Given the description of an element on the screen output the (x, y) to click on. 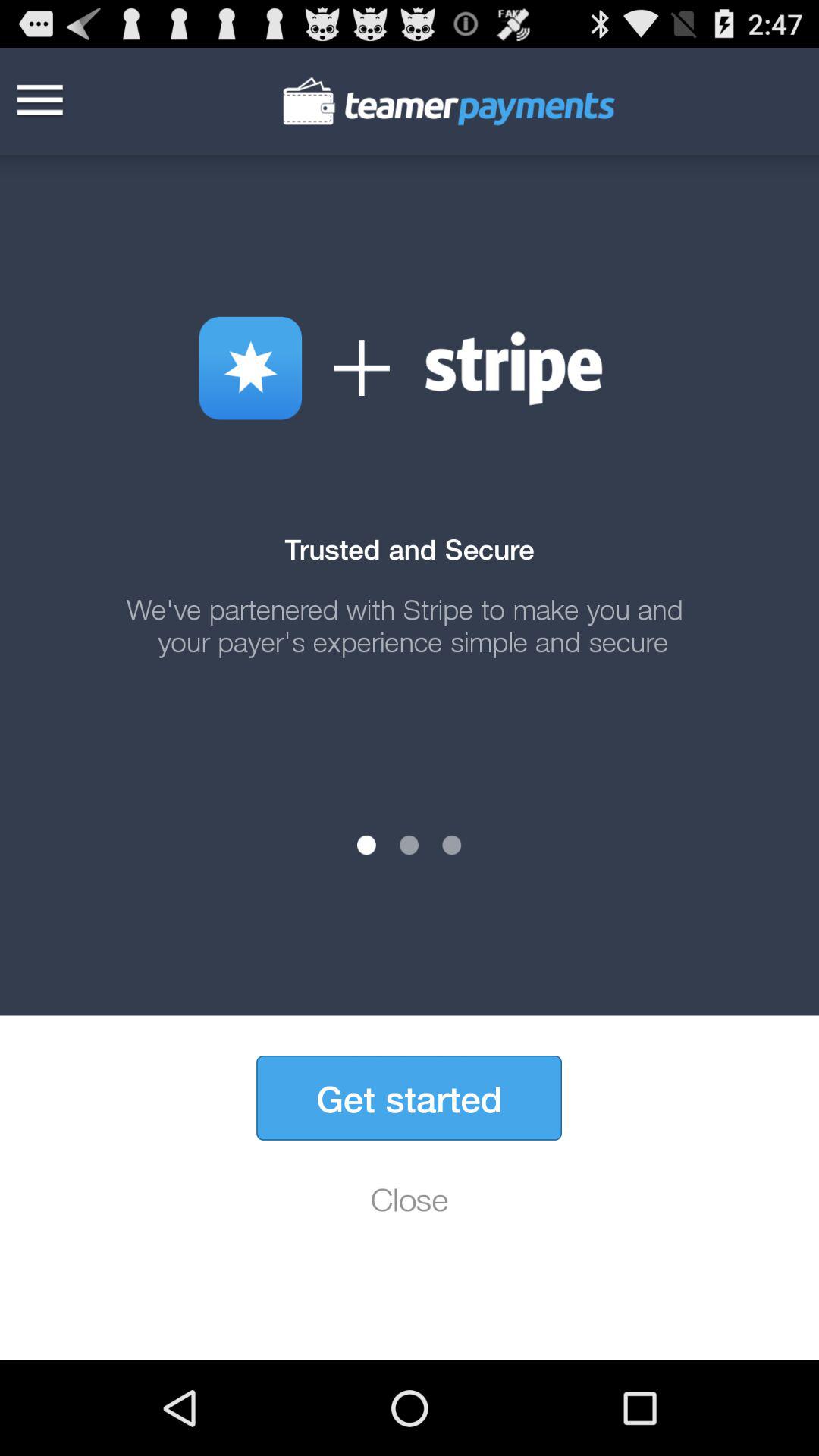
tap the item below get started (409, 1199)
